Given the description of an element on the screen output the (x, y) to click on. 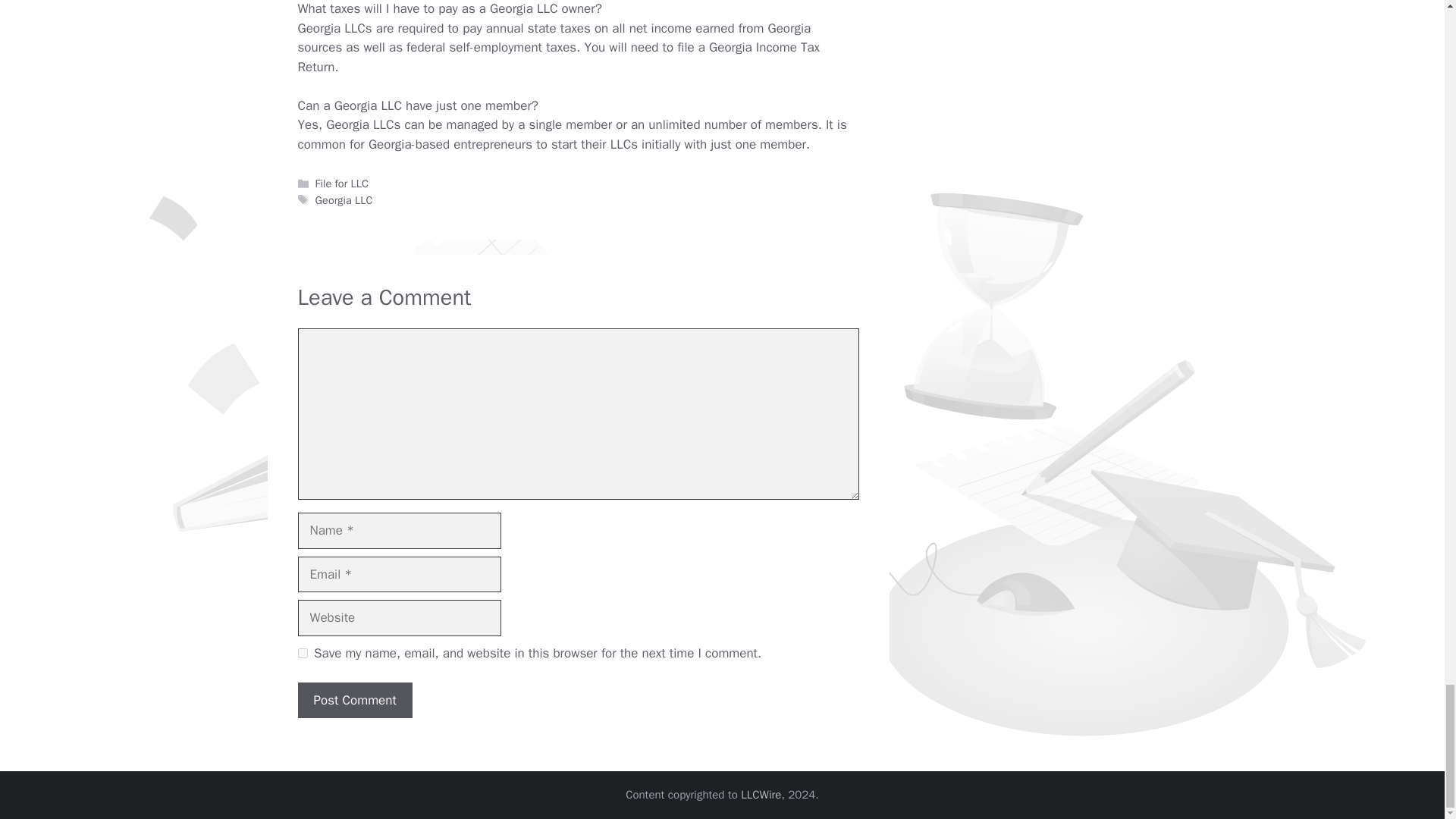
Georgia LLC (343, 200)
Post Comment (354, 700)
yes (302, 653)
File for LLC (341, 183)
Post Comment (354, 700)
